Given the description of an element on the screen output the (x, y) to click on. 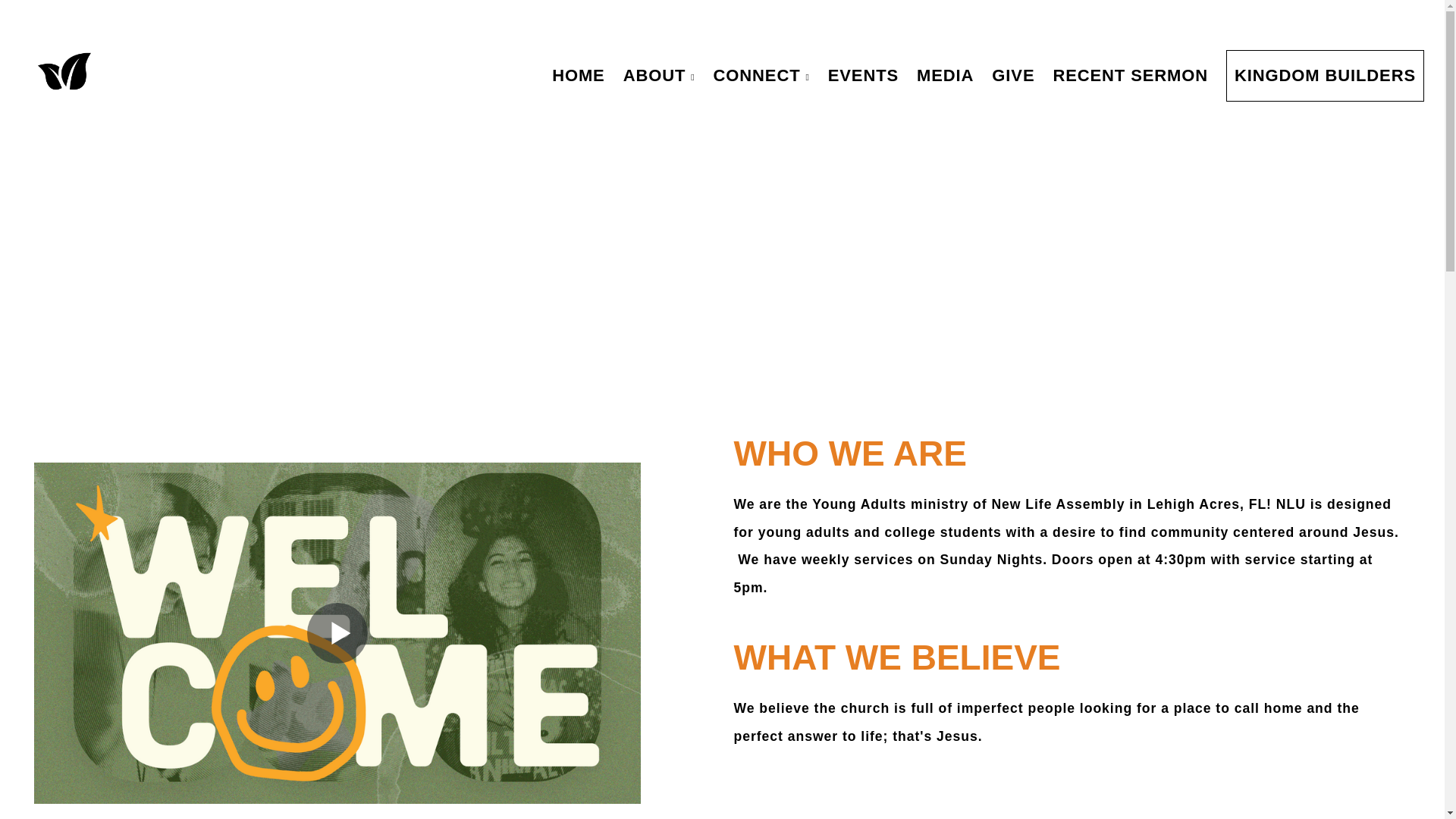
GIVE (1013, 75)
HOME (578, 75)
KINGDOM BUILDERS (1324, 75)
RECENT SERMON (1130, 75)
ABOUT  (659, 75)
EVENTS (863, 75)
MEDIA (944, 75)
CONNECT  (761, 75)
